Given the description of an element on the screen output the (x, y) to click on. 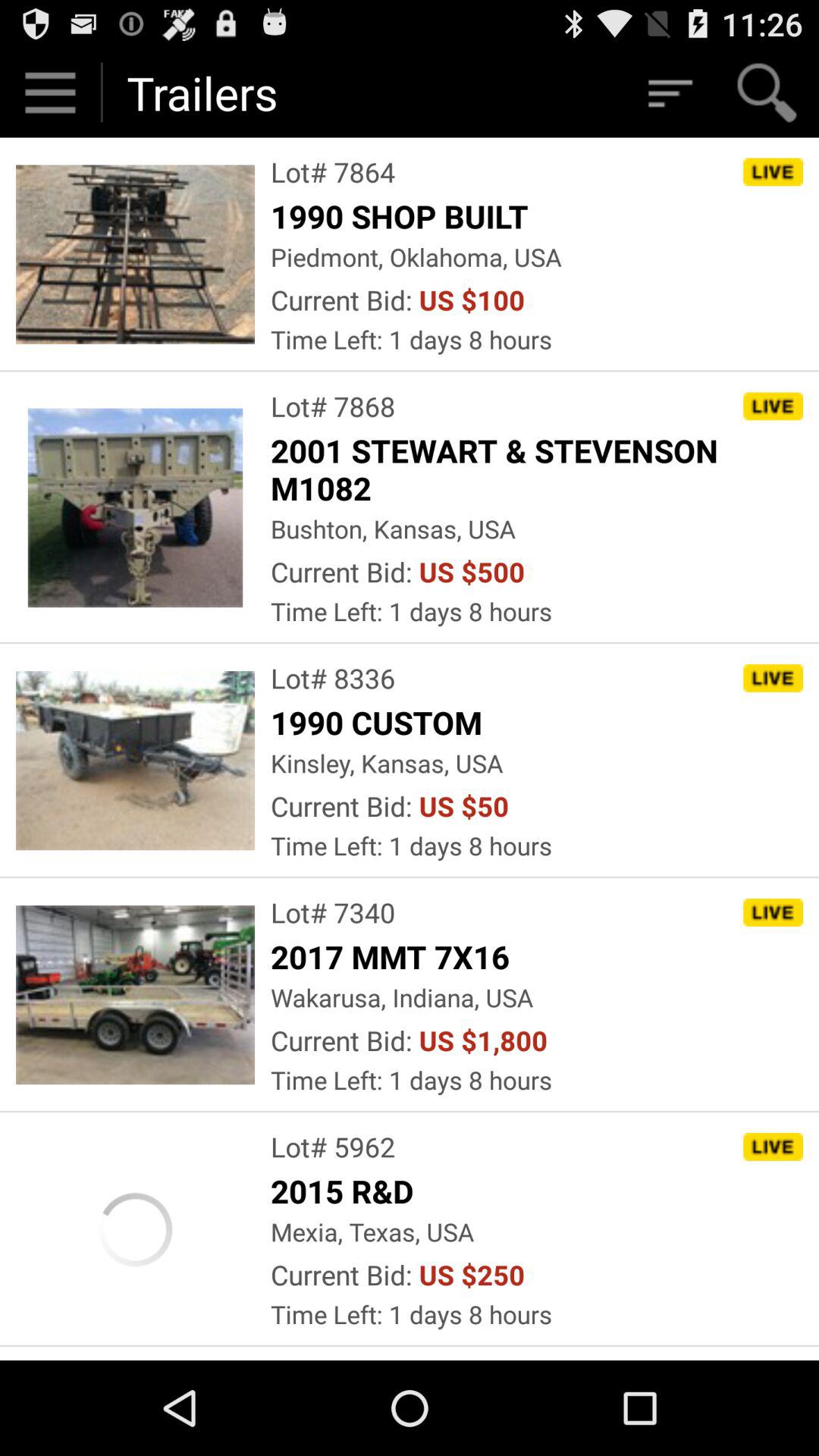
select the first image (134, 254)
select fourth image which is below trailers (134, 994)
